Given the description of an element on the screen output the (x, y) to click on. 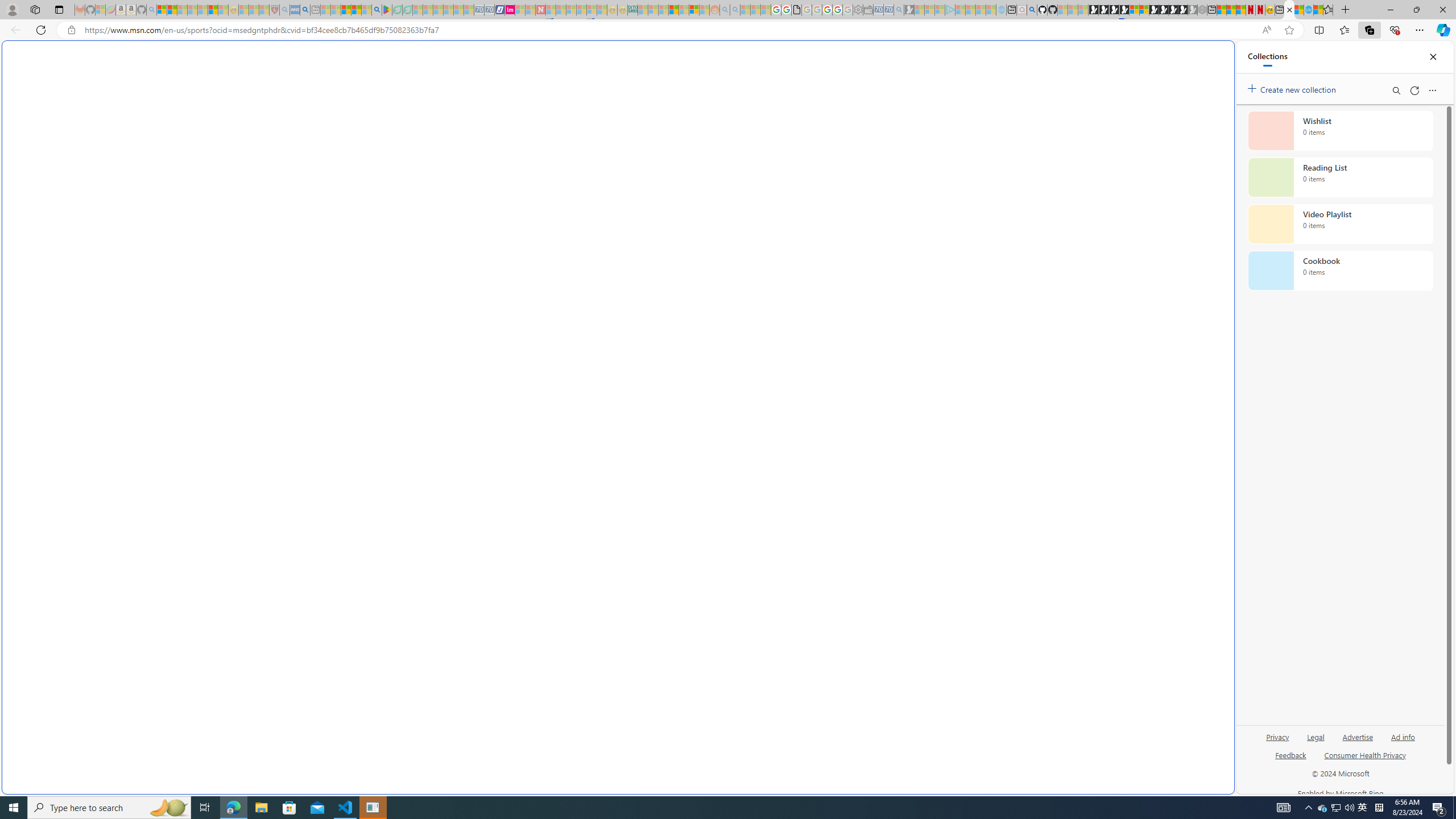
More options menu (1432, 90)
github - Search (1032, 9)
